Given the description of an element on the screen output the (x, y) to click on. 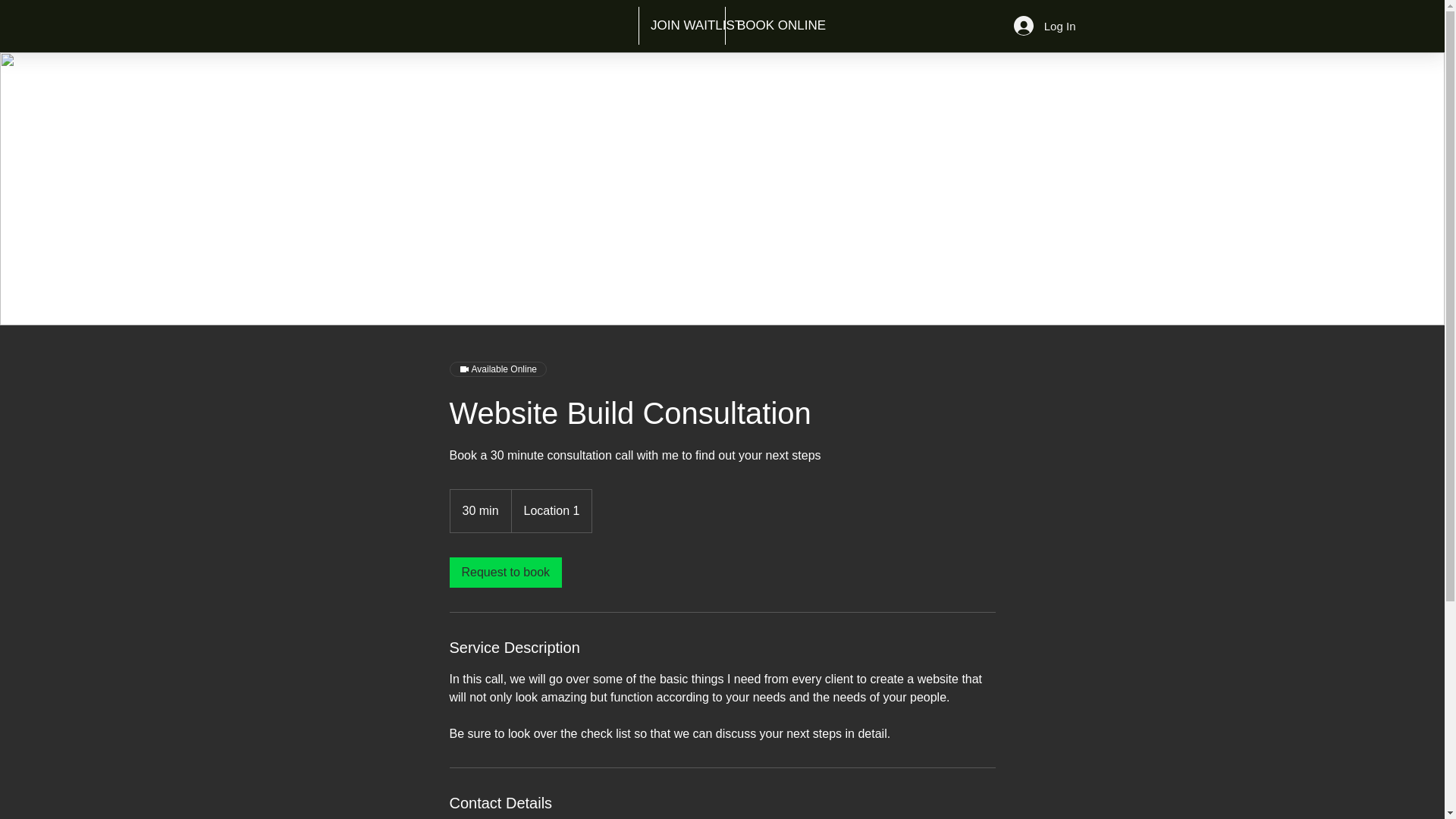
JOIN WAITLIST (682, 25)
BOOK ONLINE (765, 25)
Log In (1044, 25)
Request to book (505, 572)
